Given the description of an element on the screen output the (x, y) to click on. 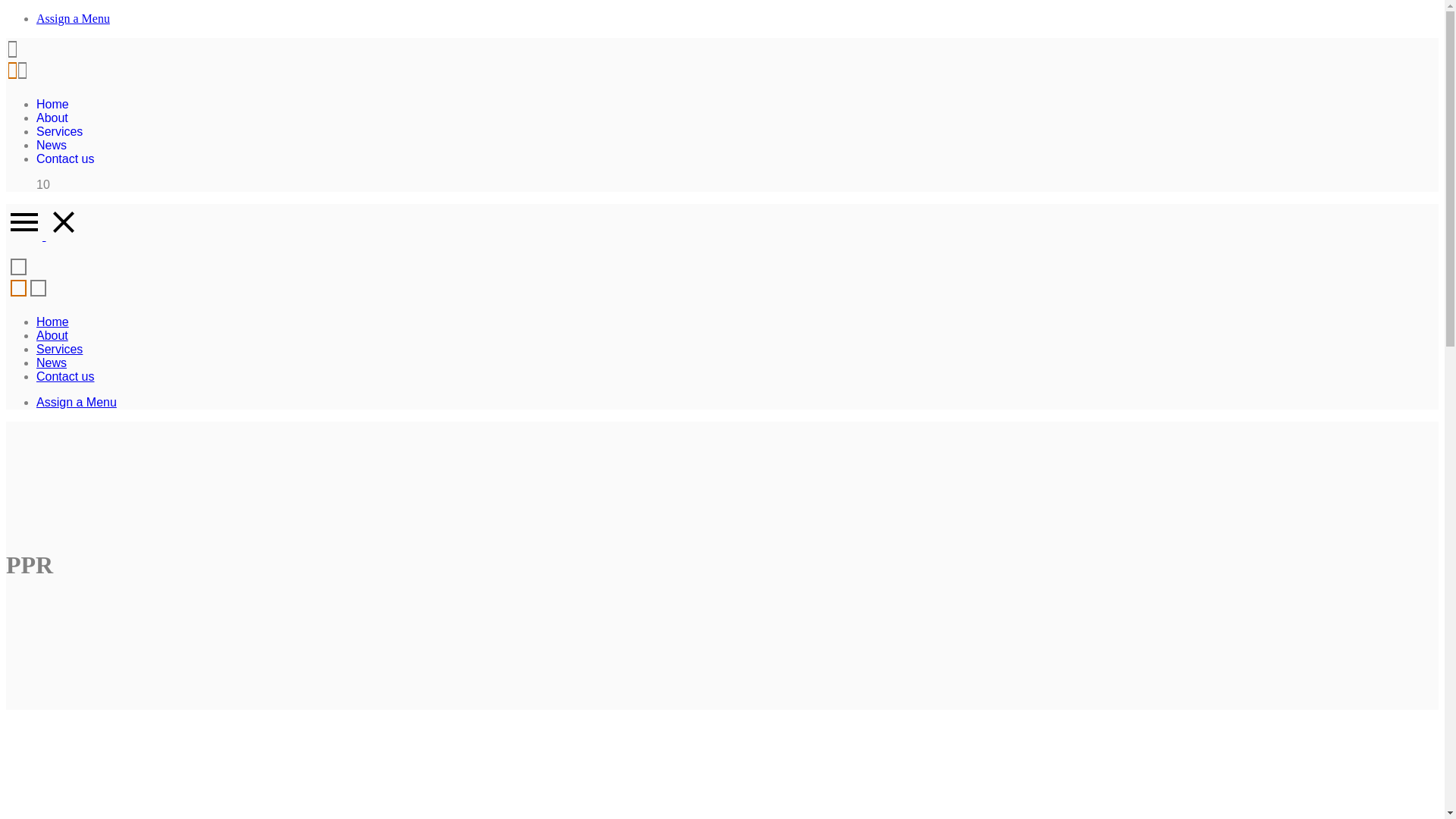
News Element type: text (51, 144)
Services Element type: text (59, 131)
Assign a Menu Element type: text (76, 401)
News Element type: text (51, 362)
Property Law Specialists Element type: hover (17, 78)
Home Element type: text (52, 103)
About Element type: text (52, 335)
Contact us Element type: text (65, 376)
Contact us Element type: text (65, 158)
Services Element type: text (59, 348)
Property Law Specialists Element type: hover (28, 295)
About Element type: text (52, 117)
Home Element type: text (52, 321)
Assign a Menu Element type: text (72, 18)
